Given the description of an element on the screen output the (x, y) to click on. 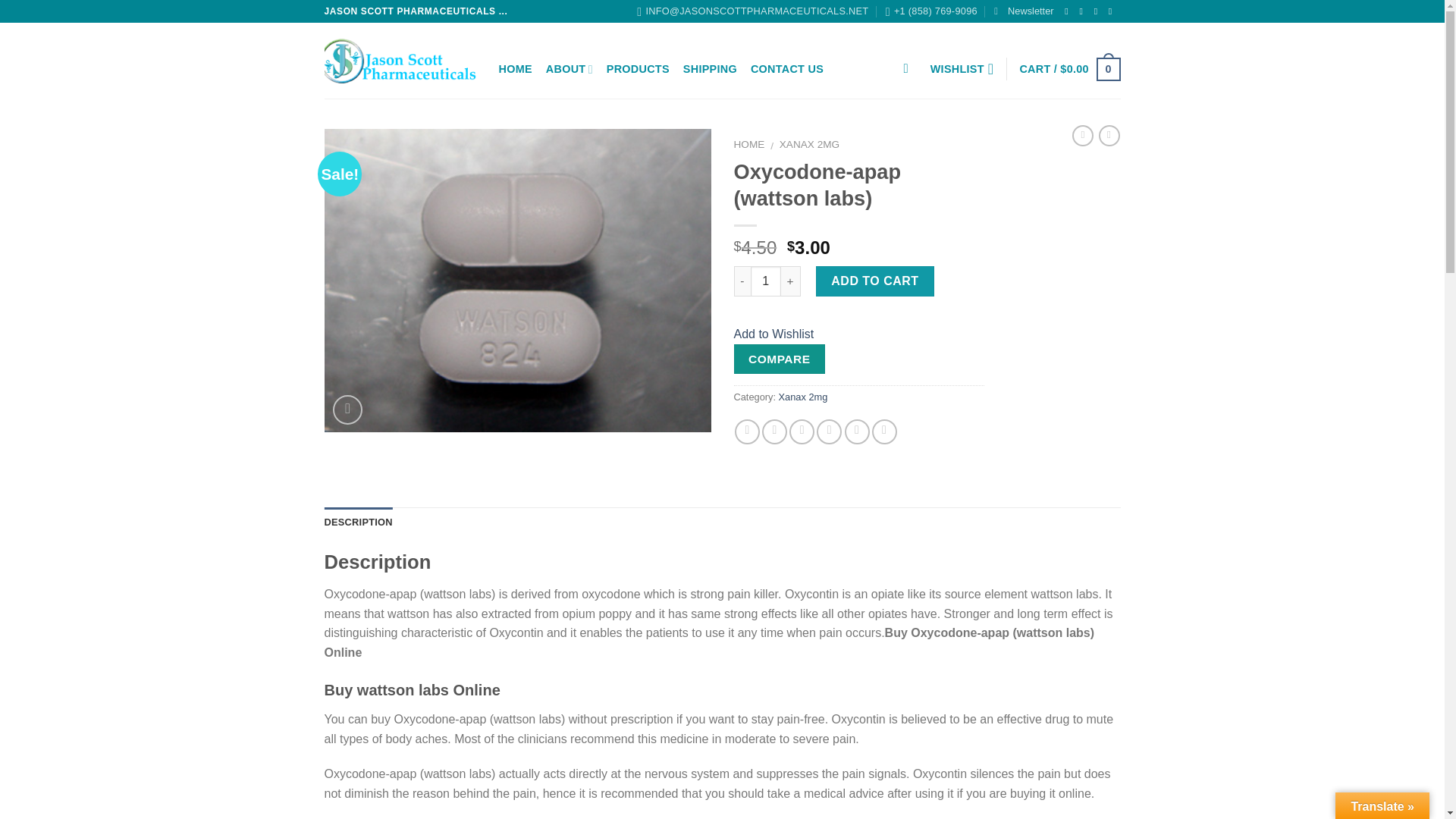
XANAX 2MG (809, 143)
ABOUT (569, 69)
ADD TO CART (874, 281)
CONTACT US (787, 69)
HOME (749, 143)
1 (765, 281)
Cart (1069, 68)
HOME (515, 69)
Sign up for Newsletter (1023, 11)
